Given the description of an element on the screen output the (x, y) to click on. 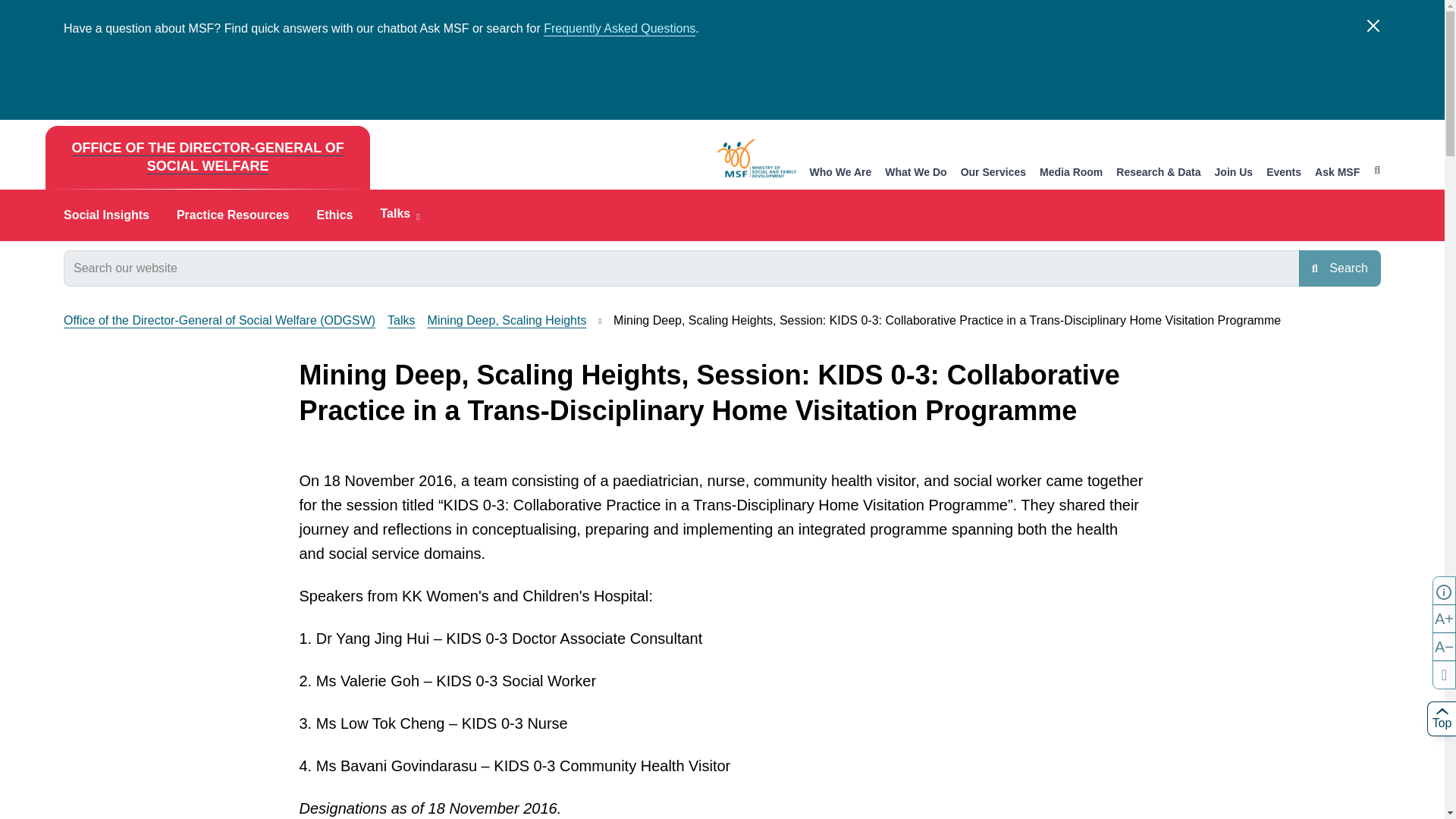
Our Services (993, 172)
Frequently Asked Questions (619, 28)
Join Us (1233, 172)
Ask MSF (1336, 172)
OFFICE OF THE DIRECTOR-GENERAL OF SOCIAL WELFARE (207, 157)
Events (1283, 172)
What We Do (915, 172)
MSF logo (756, 157)
Media Room (1070, 172)
Who We Are (840, 172)
